Given the description of an element on the screen output the (x, y) to click on. 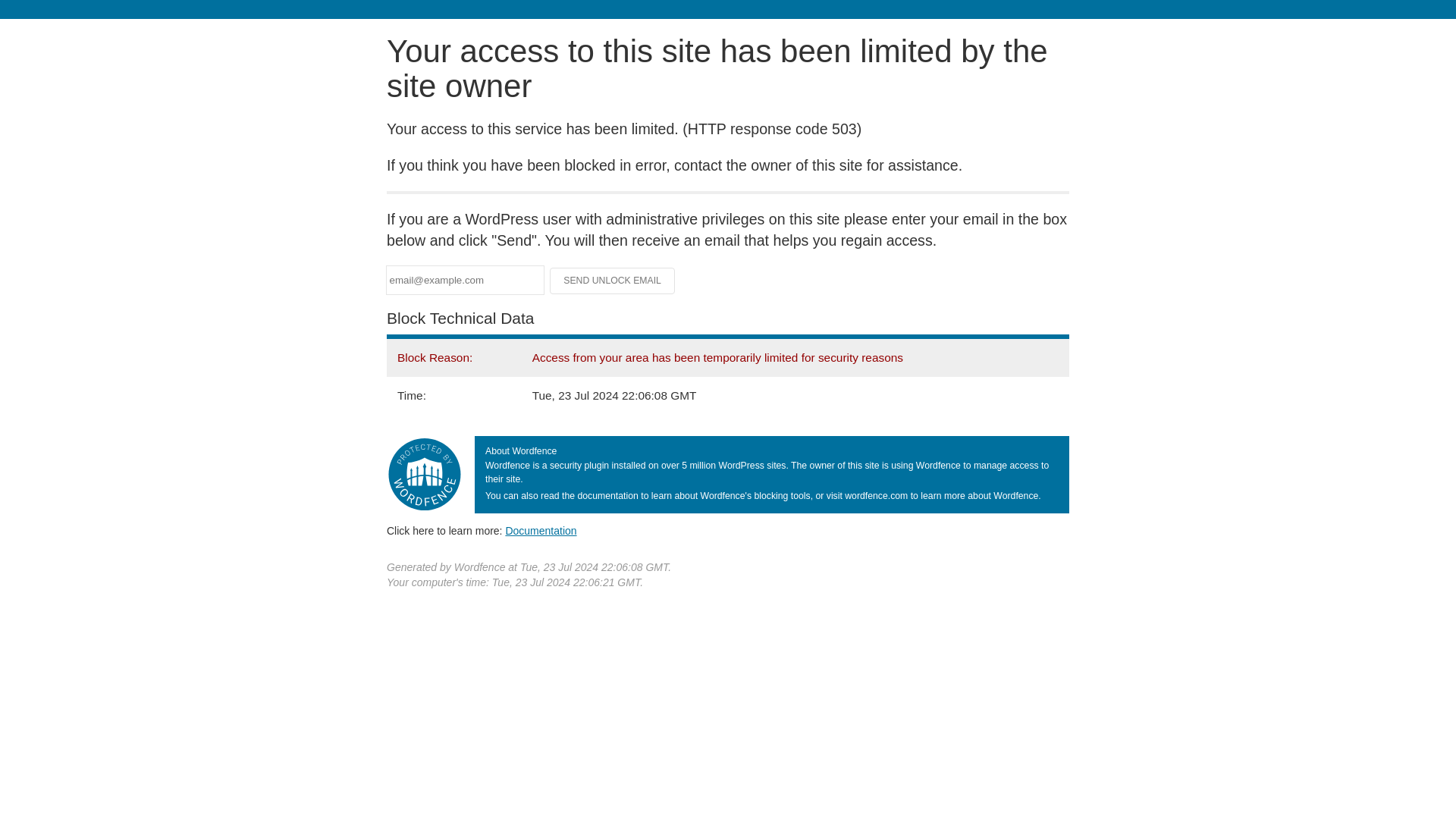
Send Unlock Email (612, 280)
Send Unlock Email (612, 280)
